Given the description of an element on the screen output the (x, y) to click on. 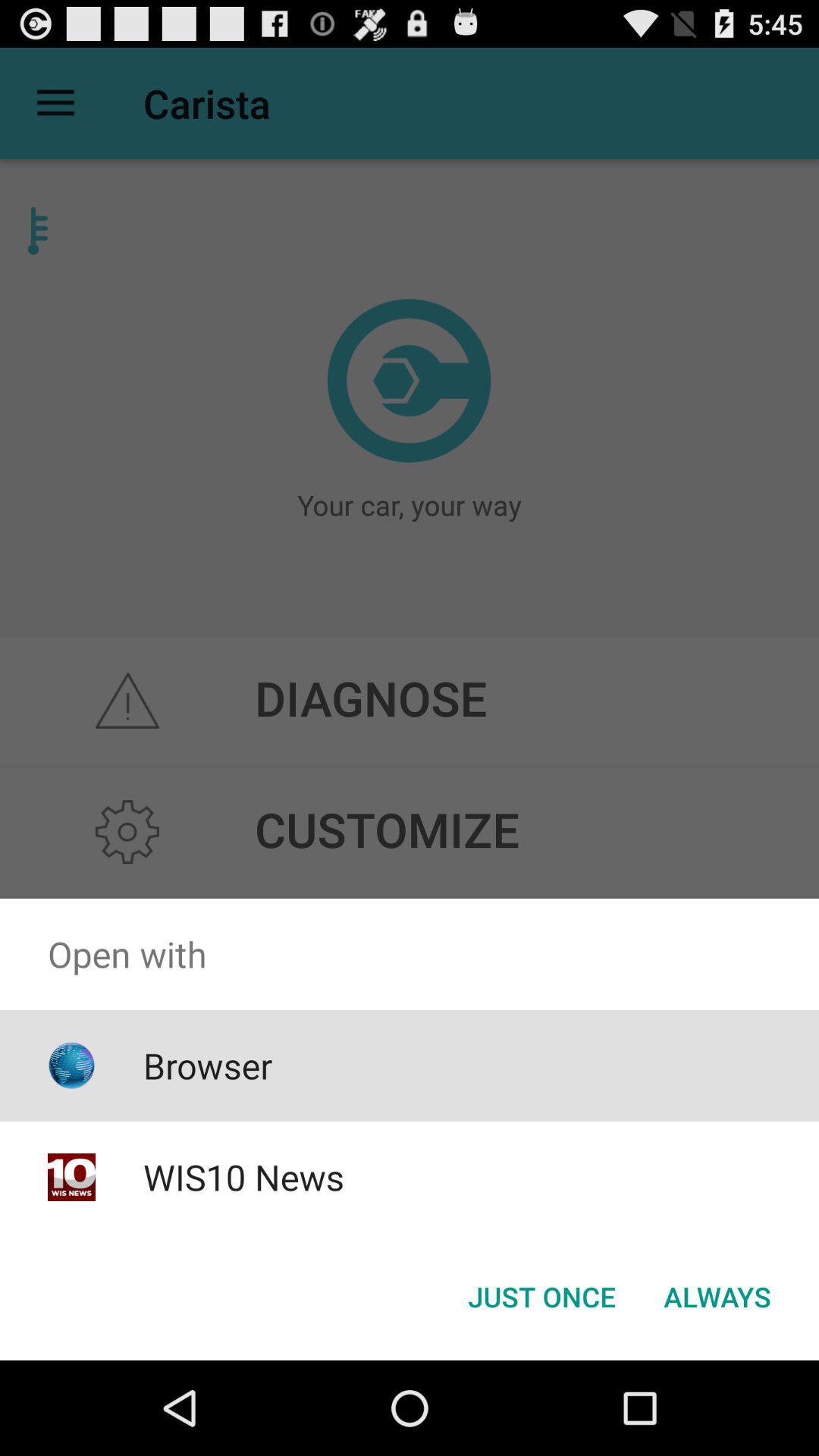
flip to wis10 news app (243, 1176)
